Given the description of an element on the screen output the (x, y) to click on. 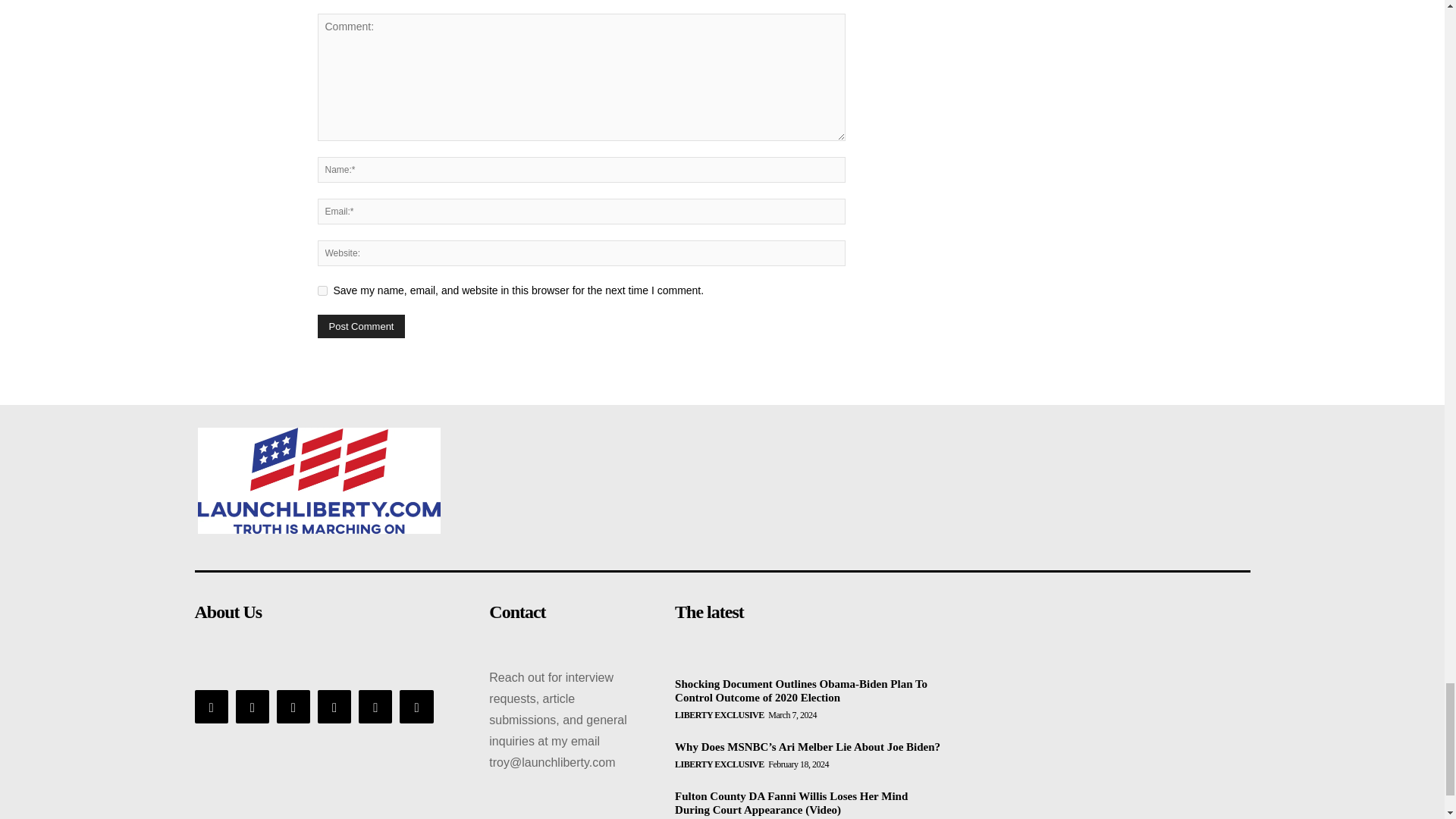
yes (321, 290)
Post Comment (360, 326)
